Given the description of an element on the screen output the (x, y) to click on. 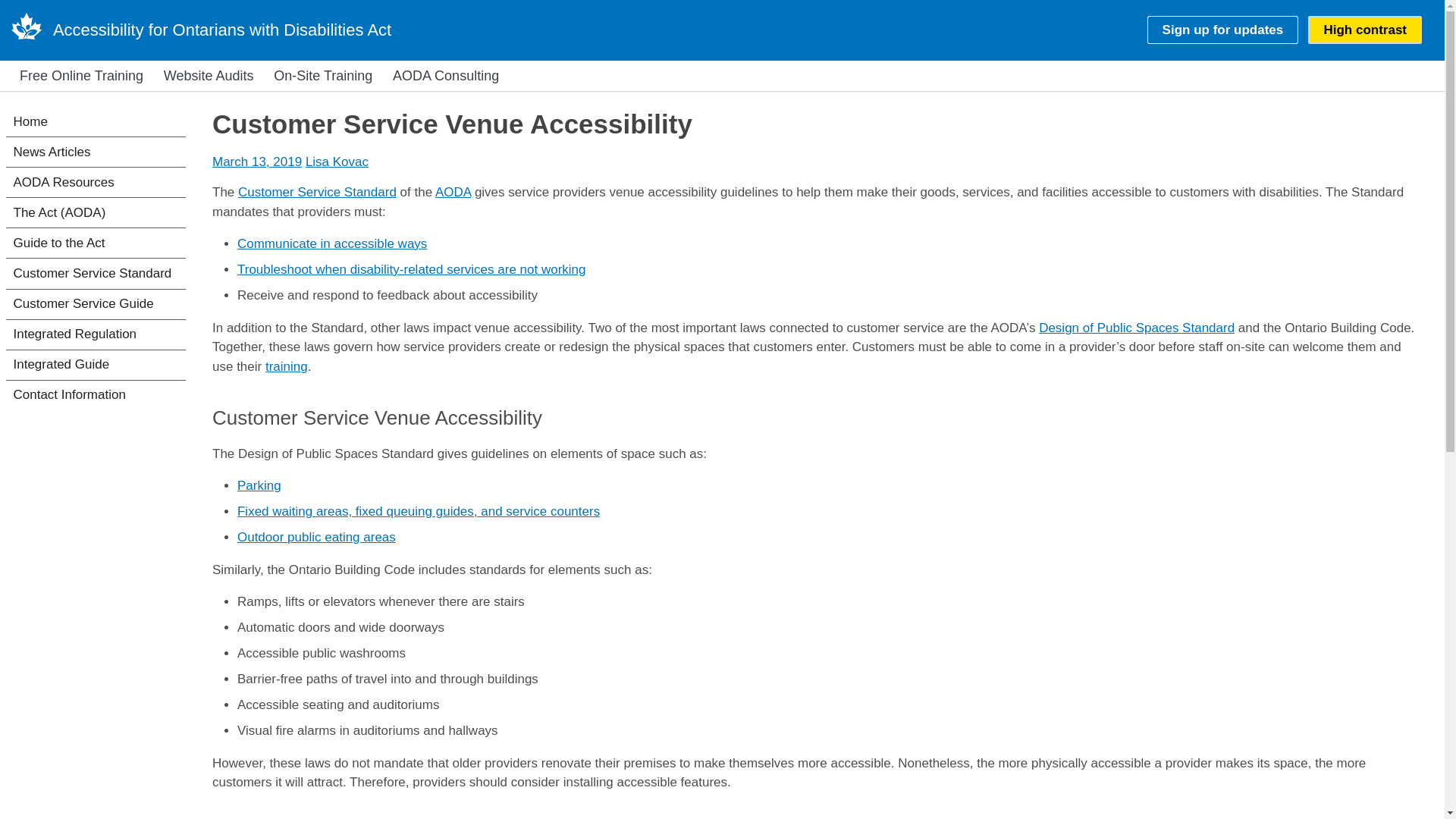
On-Site Training (322, 75)
Guide to the Act (95, 242)
High contrast (1364, 29)
Outdoor public eating areas (316, 536)
Integrated Regulation (95, 334)
Sign up for updates (1222, 29)
Lisa Kovac (336, 161)
AODA (452, 192)
AODA Consulting (445, 75)
Integrated Guide (95, 365)
Parking (259, 485)
News Articles (95, 152)
Contact Information (95, 395)
Customer Service Guide (95, 304)
Accessibility for Ontarians with Disabilities Act (221, 29)
